Given the description of an element on the screen output the (x, y) to click on. 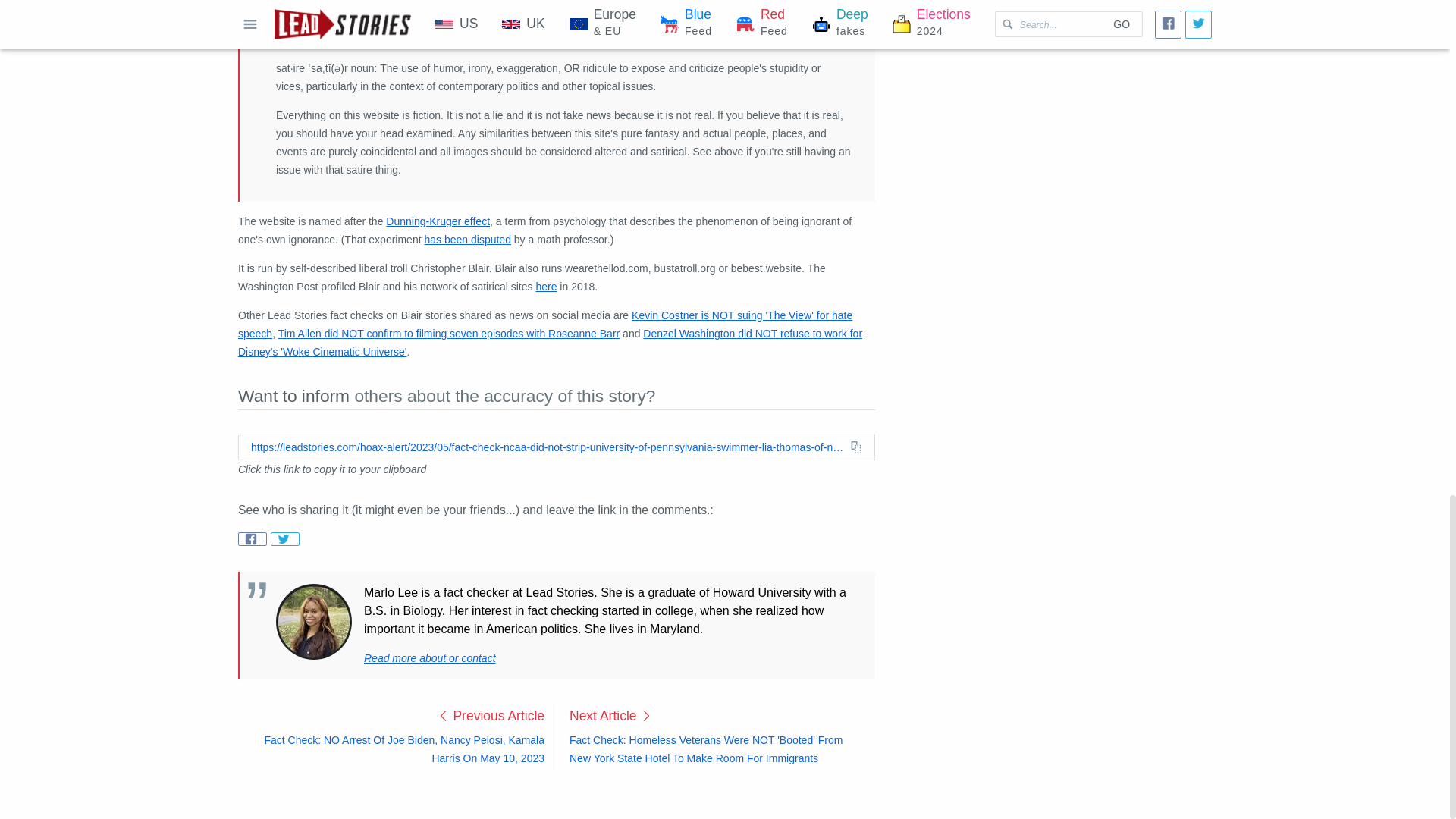
has been disputed (467, 239)
Kevin Costner is NOT suing 'The View' for hate speech (544, 324)
Read more about or contact (430, 657)
here (545, 286)
Dunning-Kruger effect (437, 221)
